Given the description of an element on the screen output the (x, y) to click on. 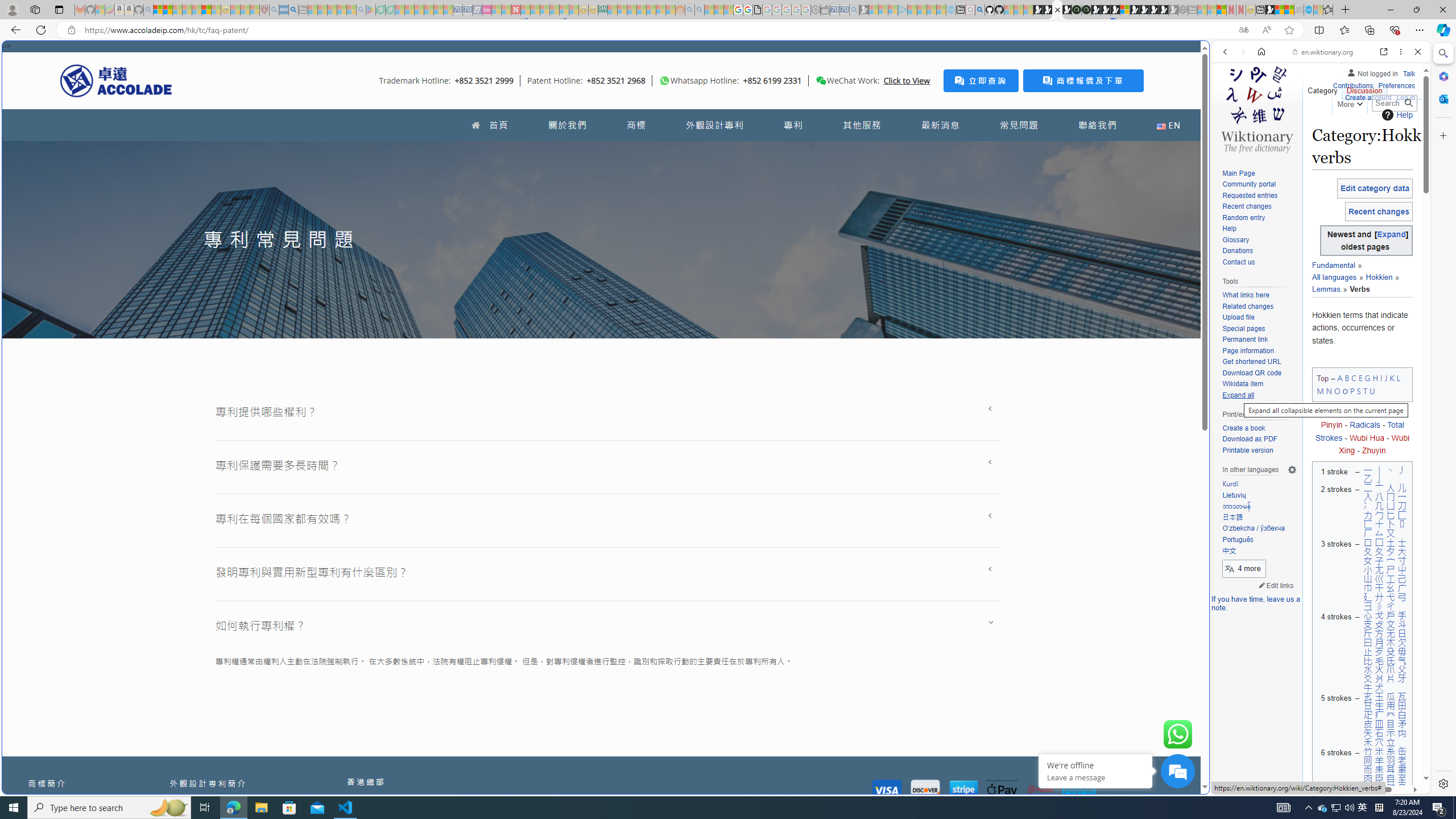
J (1385, 378)
Tabs you've opened (885, 151)
5 strokes (1334, 719)
